Given the description of an element on the screen output the (x, y) to click on. 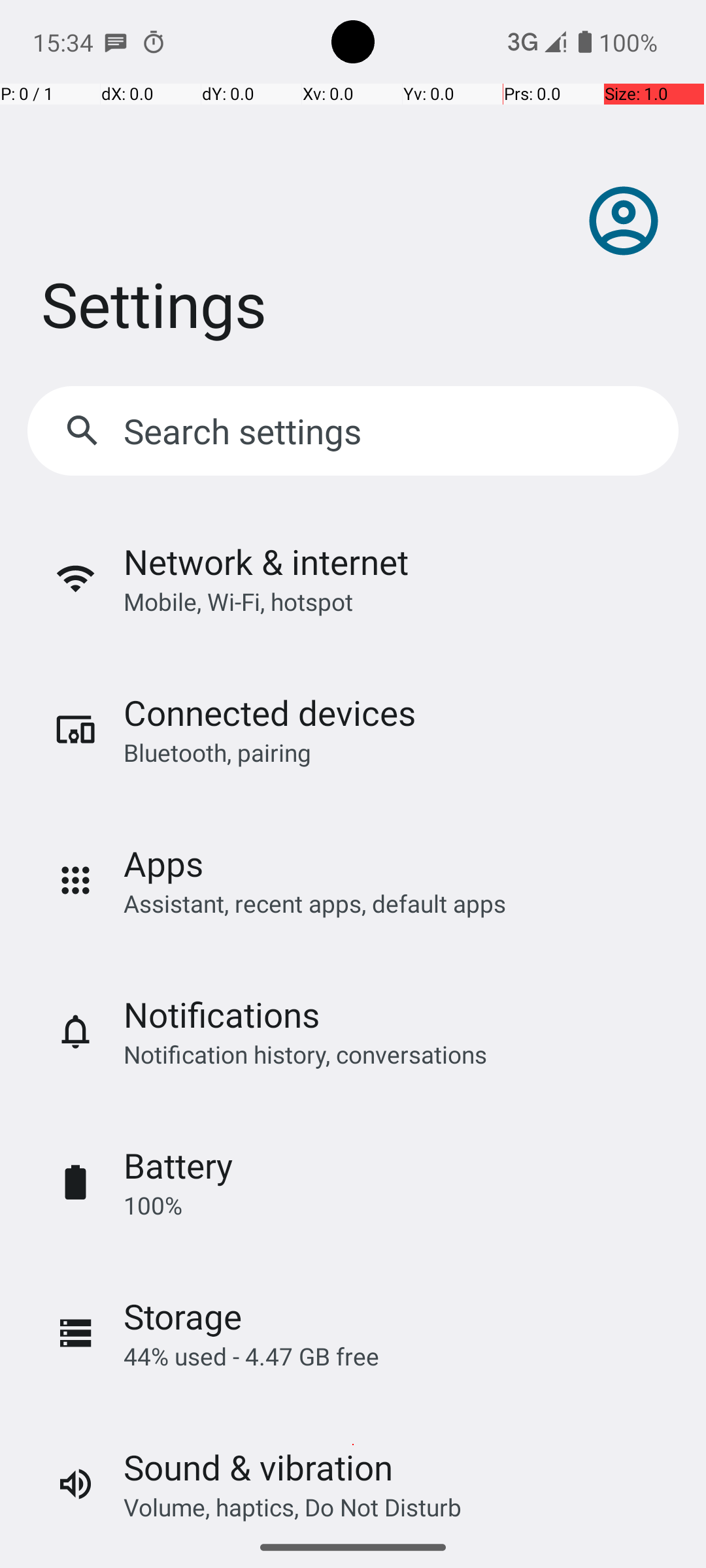
44% used - 4.47 GB free Element type: android.widget.TextView (251, 1355)
